Given the description of an element on the screen output the (x, y) to click on. 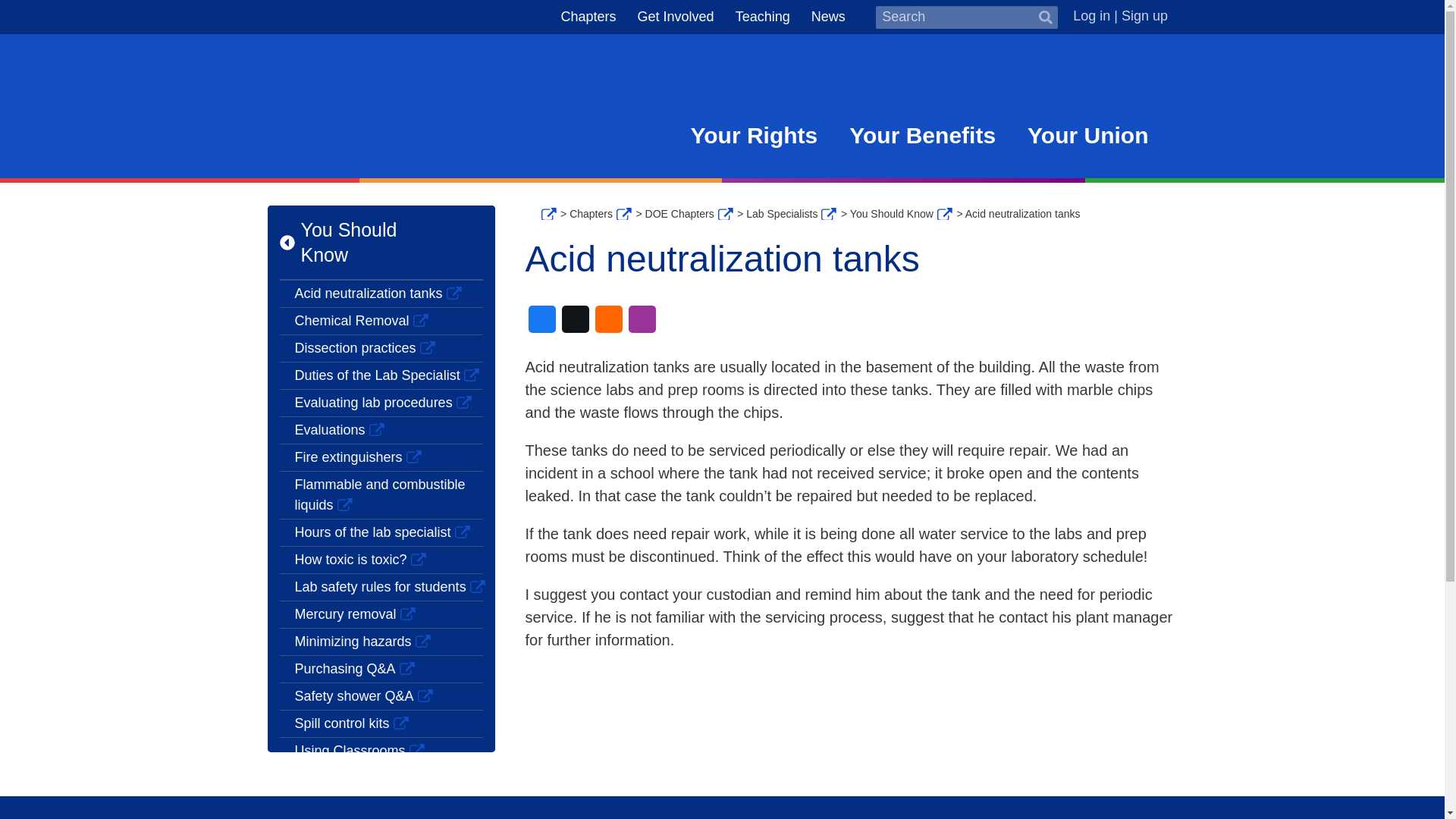
Chapters (587, 16)
Share to Facebook (540, 318)
Share to X (574, 318)
Share to Email (607, 318)
Search (1044, 17)
